Given the description of an element on the screen output the (x, y) to click on. 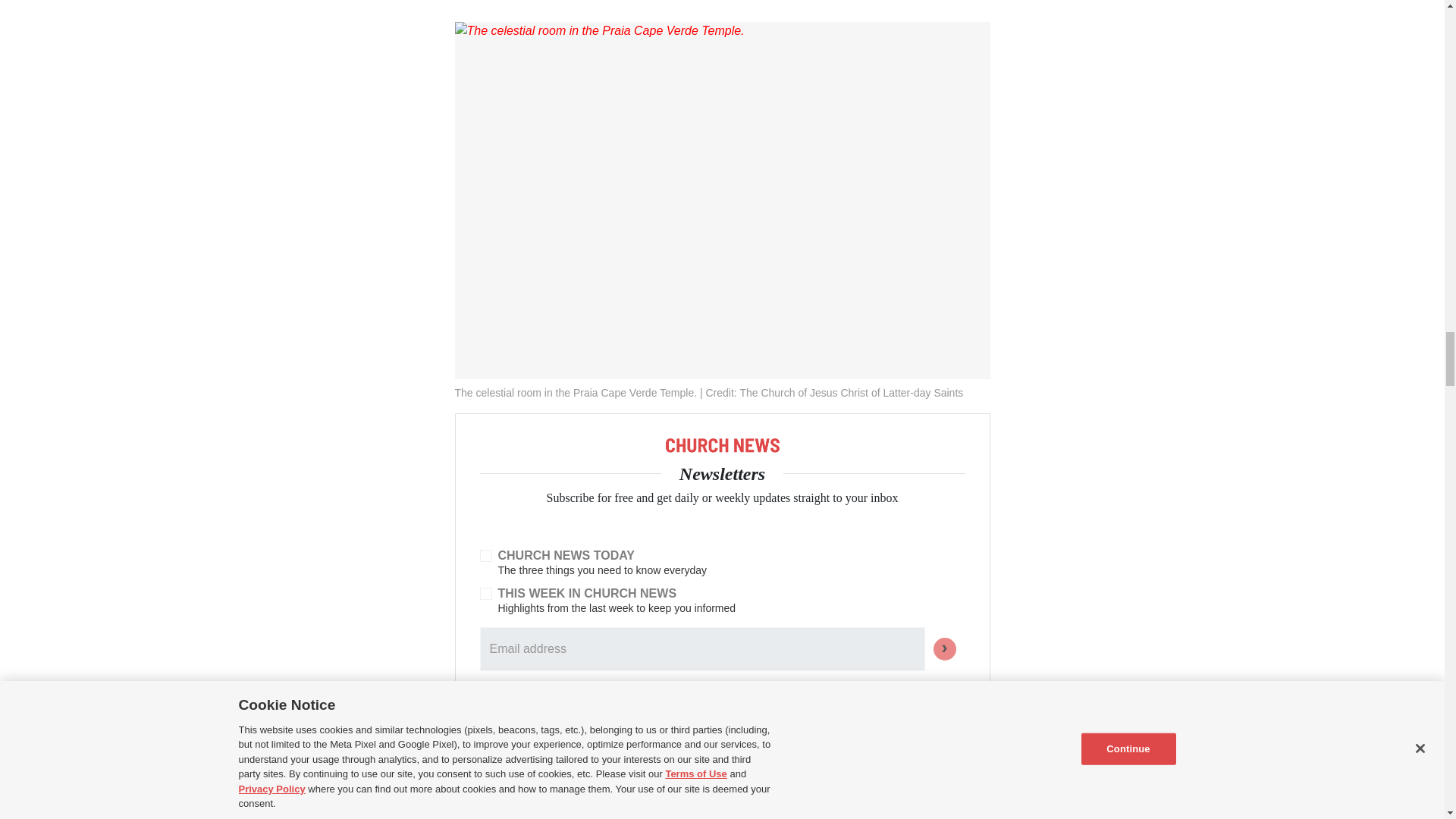
Church News Today (485, 555)
This Week in Church News (485, 593)
